Given the description of an element on the screen output the (x, y) to click on. 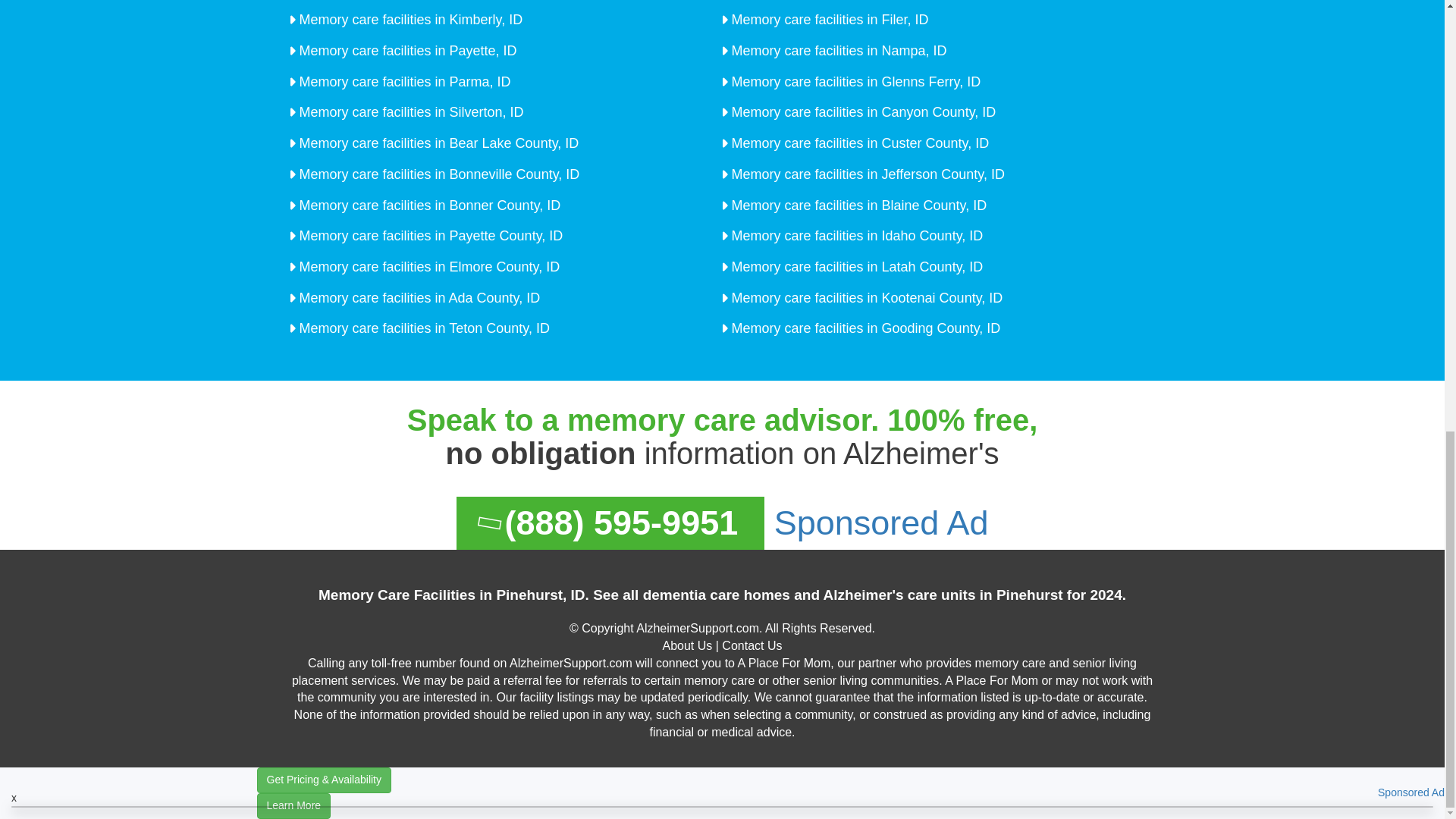
Memory care facilities in Payette, ID (405, 50)
Memory care facilities in Nampa, ID (837, 50)
Memory care facilities in Bonner County, ID (427, 205)
Memory care facilities in Ada County, ID (417, 297)
Memory care facilities in Parma, ID (403, 81)
Memory care facilities in Canyon County, ID (861, 111)
Kimberly, ID Memory Care (408, 19)
Nampa, ID Memory Care (837, 50)
Memory care facilities in Blaine County, ID (857, 205)
Memory care facilities in Kimberly, ID (408, 19)
